Given the description of an element on the screen output the (x, y) to click on. 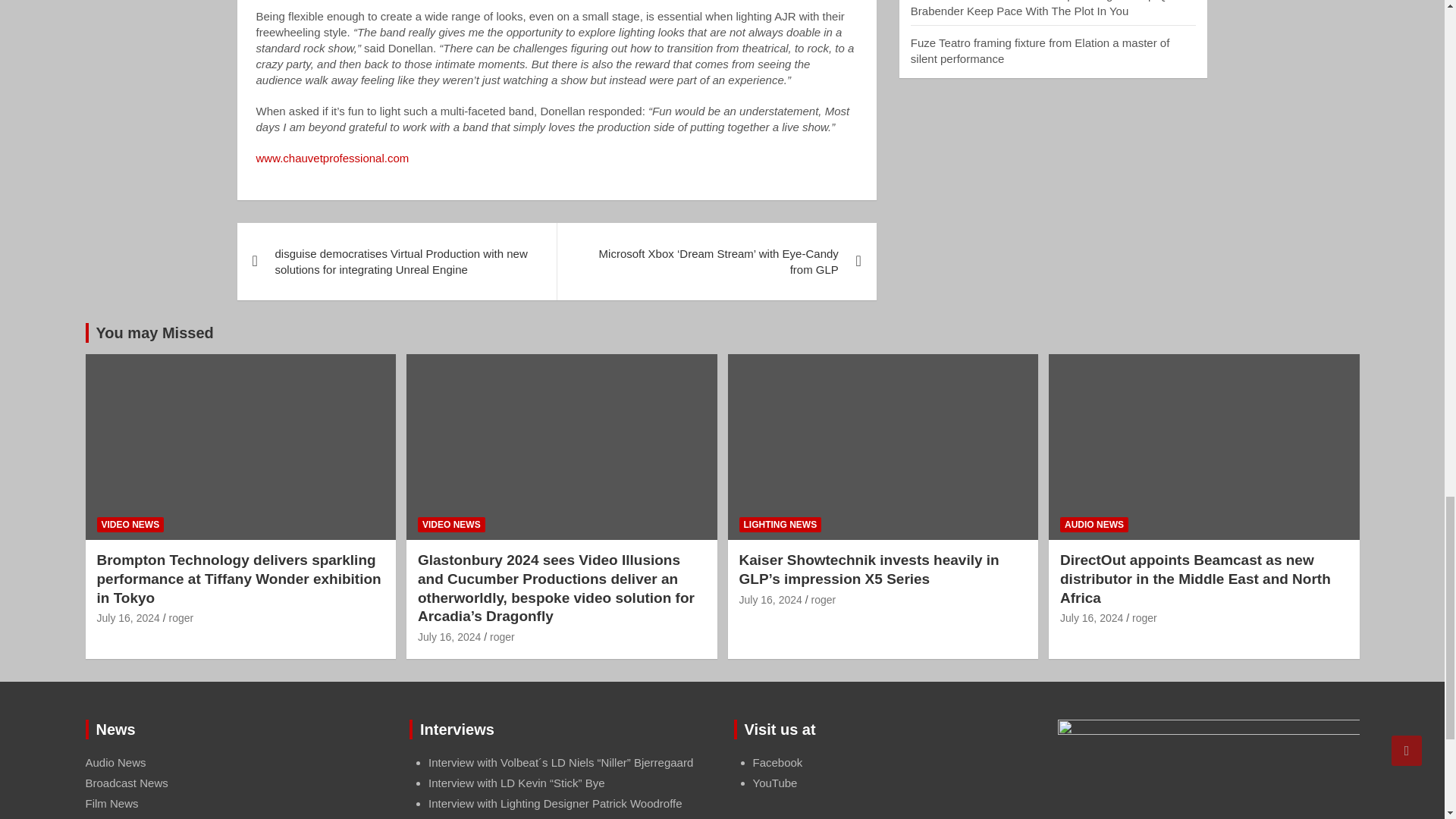
www.chauvetprofessional.com (332, 157)
